Given the description of an element on the screen output the (x, y) to click on. 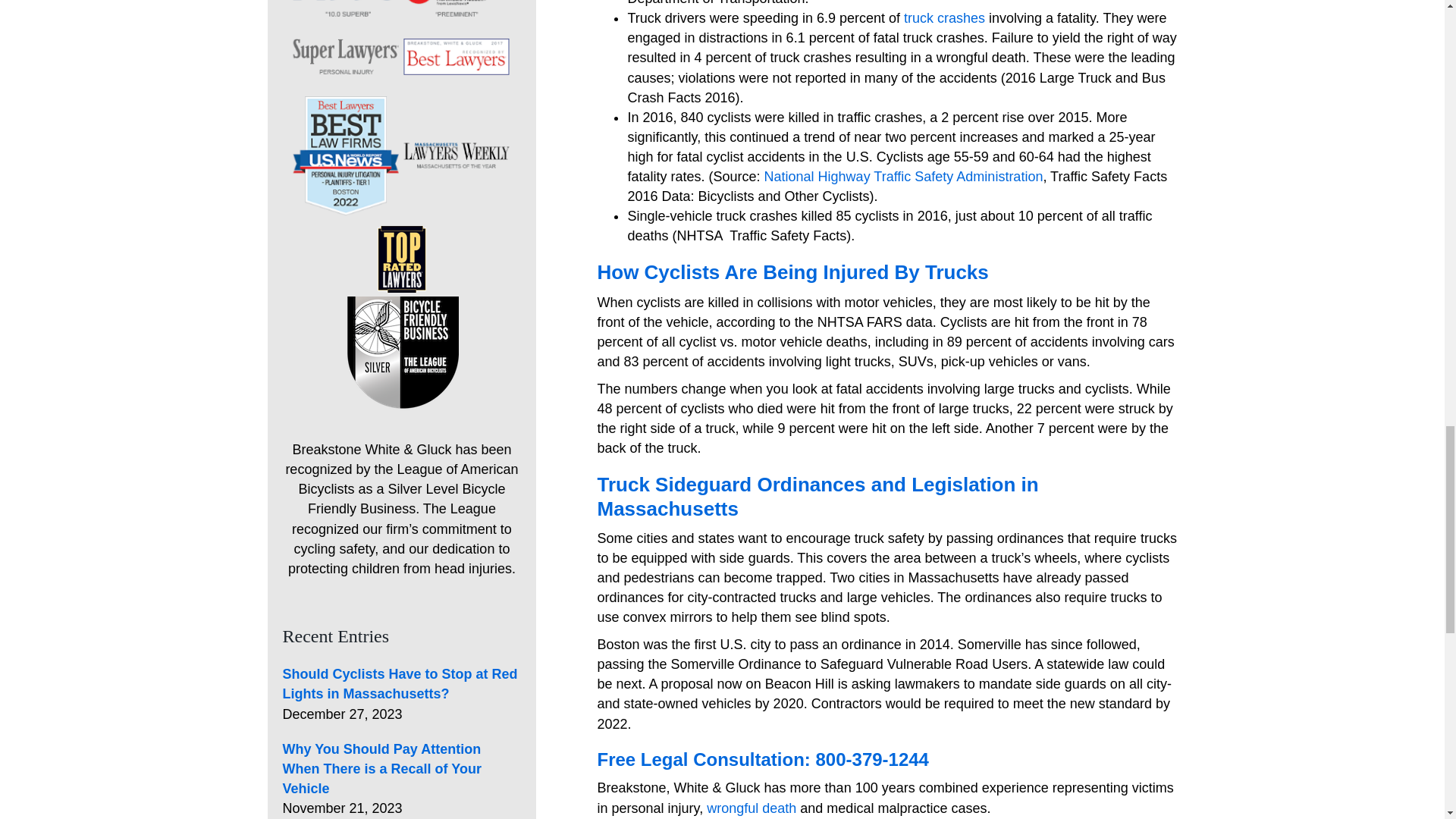
Should Cyclists Have to Stop at Red Lights in Massachusetts? (399, 683)
